Given the description of an element on the screen output the (x, y) to click on. 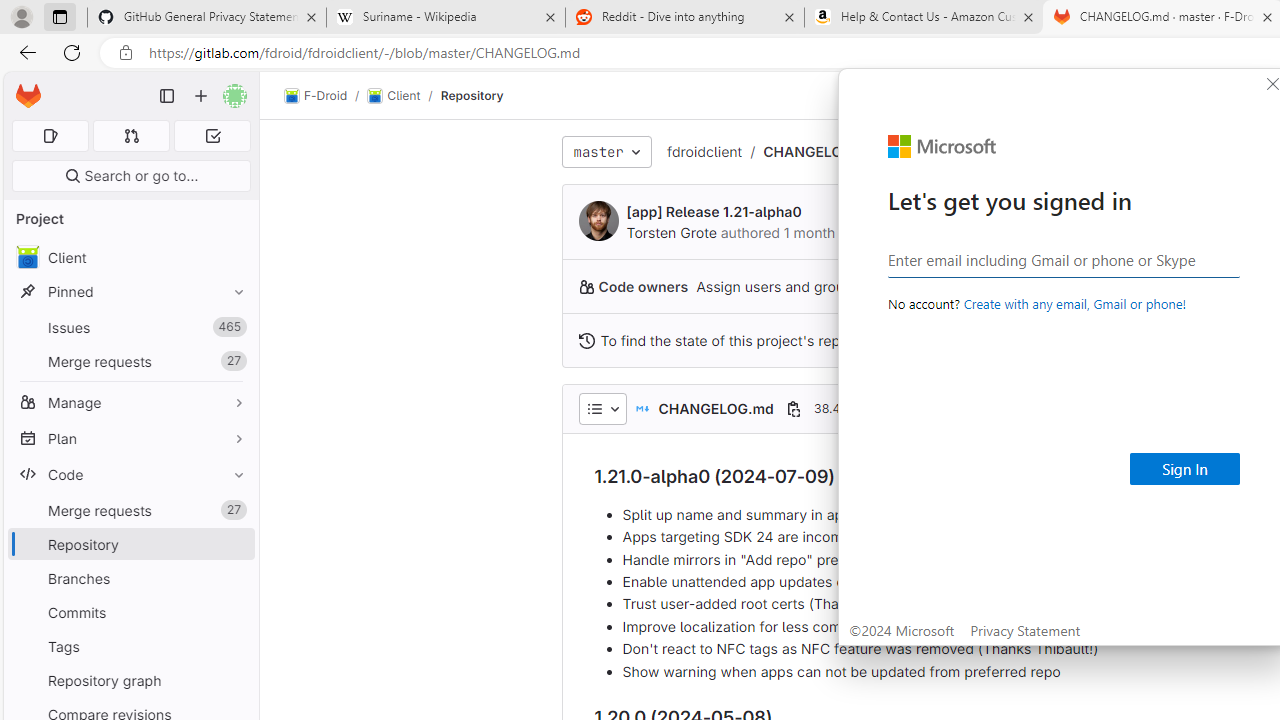
Source Control (Ctrl+Shift+G) (24, 155)
View (198, 16)
Terminal (322, 16)
Testing (24, 299)
Run (271, 16)
Extensions (Ctrl+Shift+X) (24, 250)
after_screenshot_marked.png, preview (656, 52)
File (52, 16)
Search (Ctrl+Shift+F) (24, 106)
Tab actions (872, 52)
Views and More Actions... (279, 52)
Selection (141, 16)
